Given the description of an element on the screen output the (x, y) to click on. 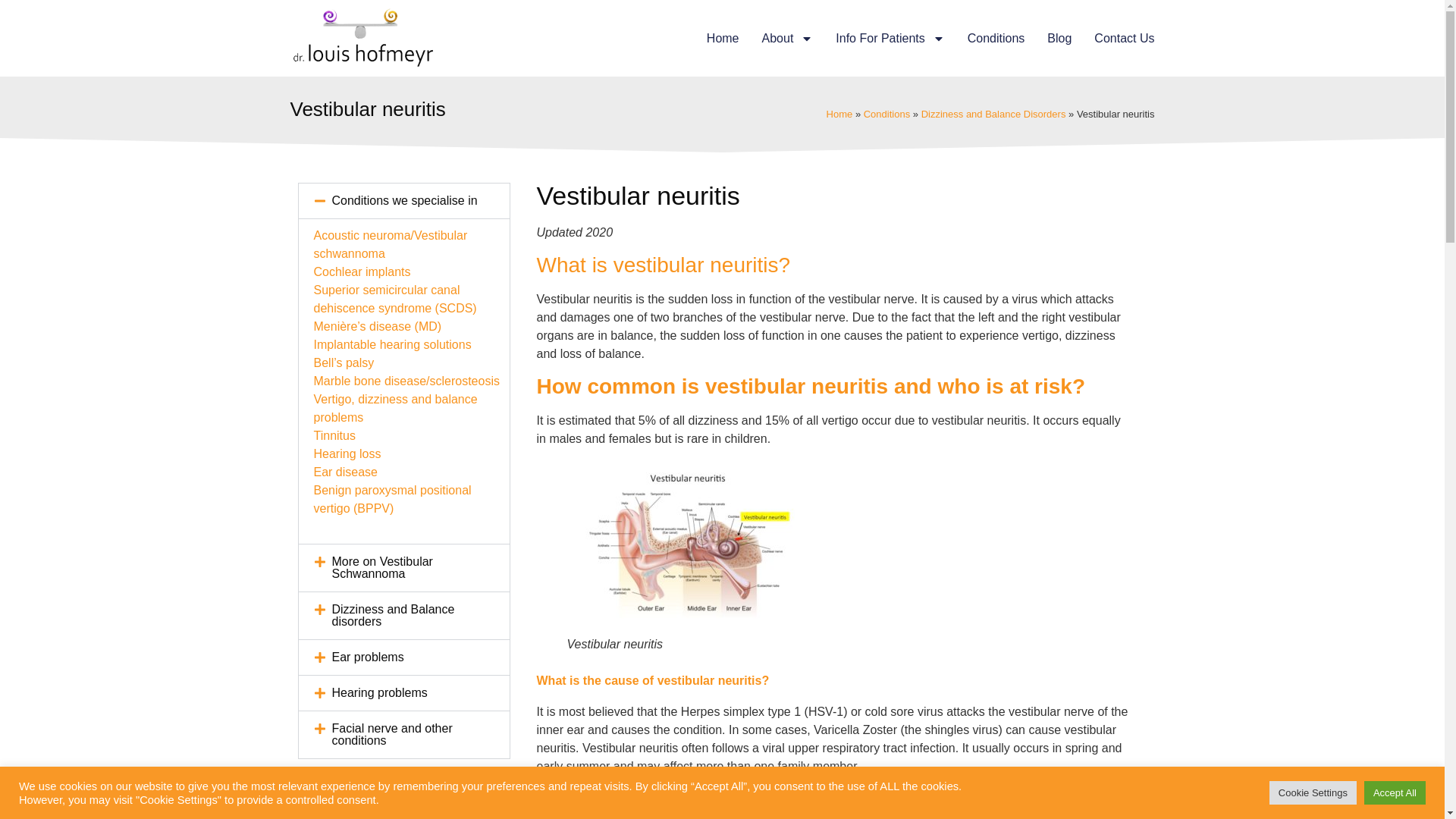
About (787, 38)
Blog (1058, 38)
Contact Us (1124, 38)
Info For Patients (889, 38)
Home (722, 38)
Conditions (996, 38)
